Given the description of an element on the screen output the (x, y) to click on. 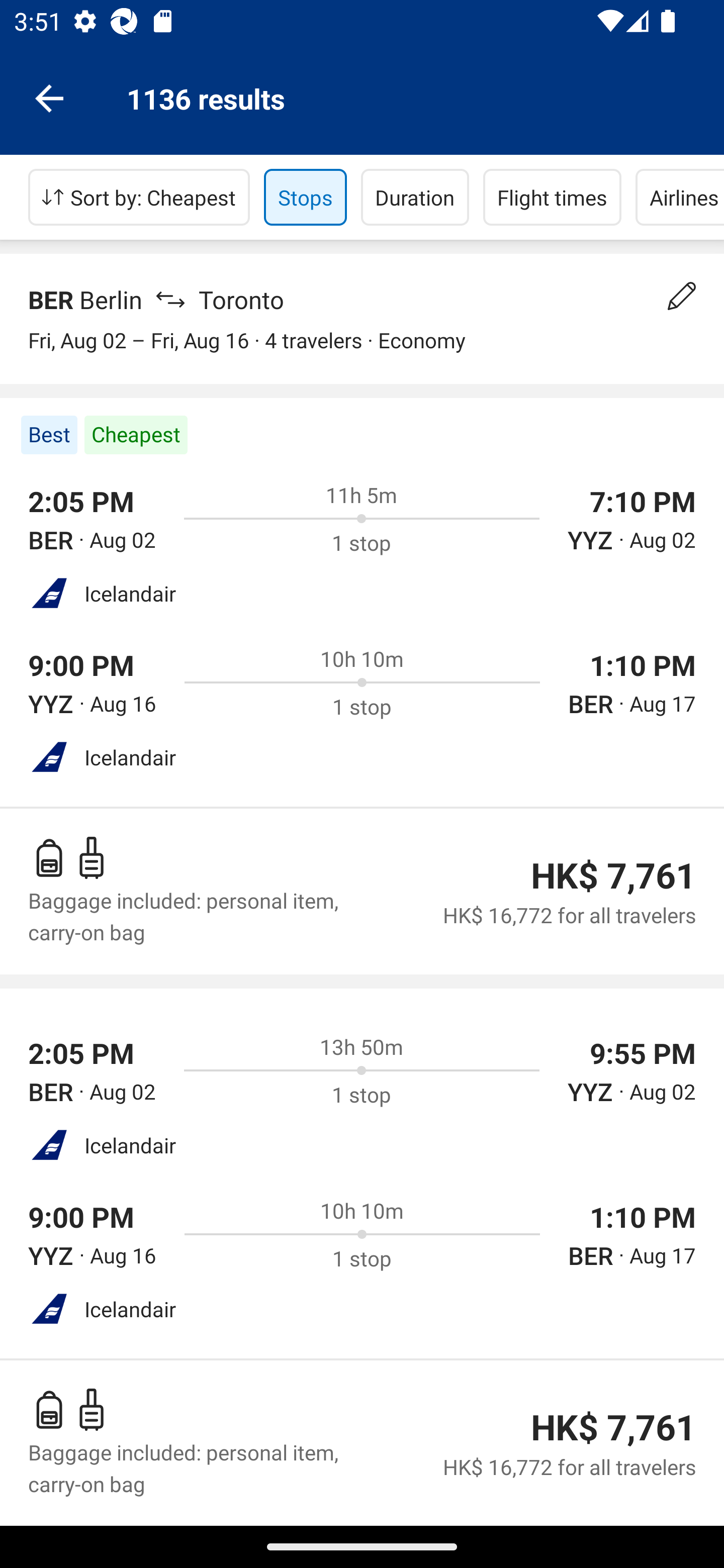
Navigate up (49, 97)
Sort by: Cheapest (138, 197)
Stops (305, 197)
Duration (415, 197)
Flight times (551, 197)
Airlines (679, 197)
Change your search details (681, 296)
HK$ 7,761 (612, 875)
HK$ 7,761 (612, 1427)
